Given the description of an element on the screen output the (x, y) to click on. 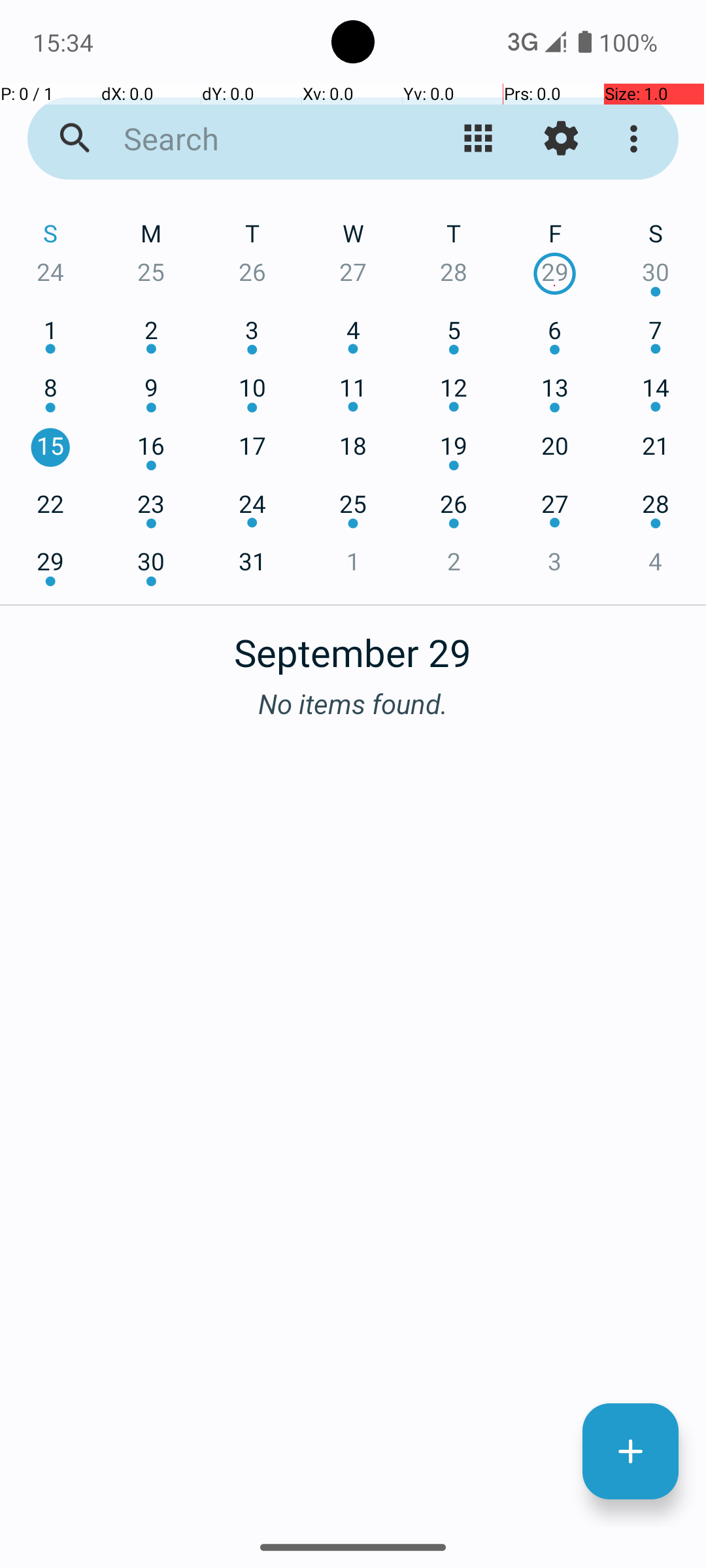
September 29 Element type: android.widget.TextView (352, 644)
